Given the description of an element on the screen output the (x, y) to click on. 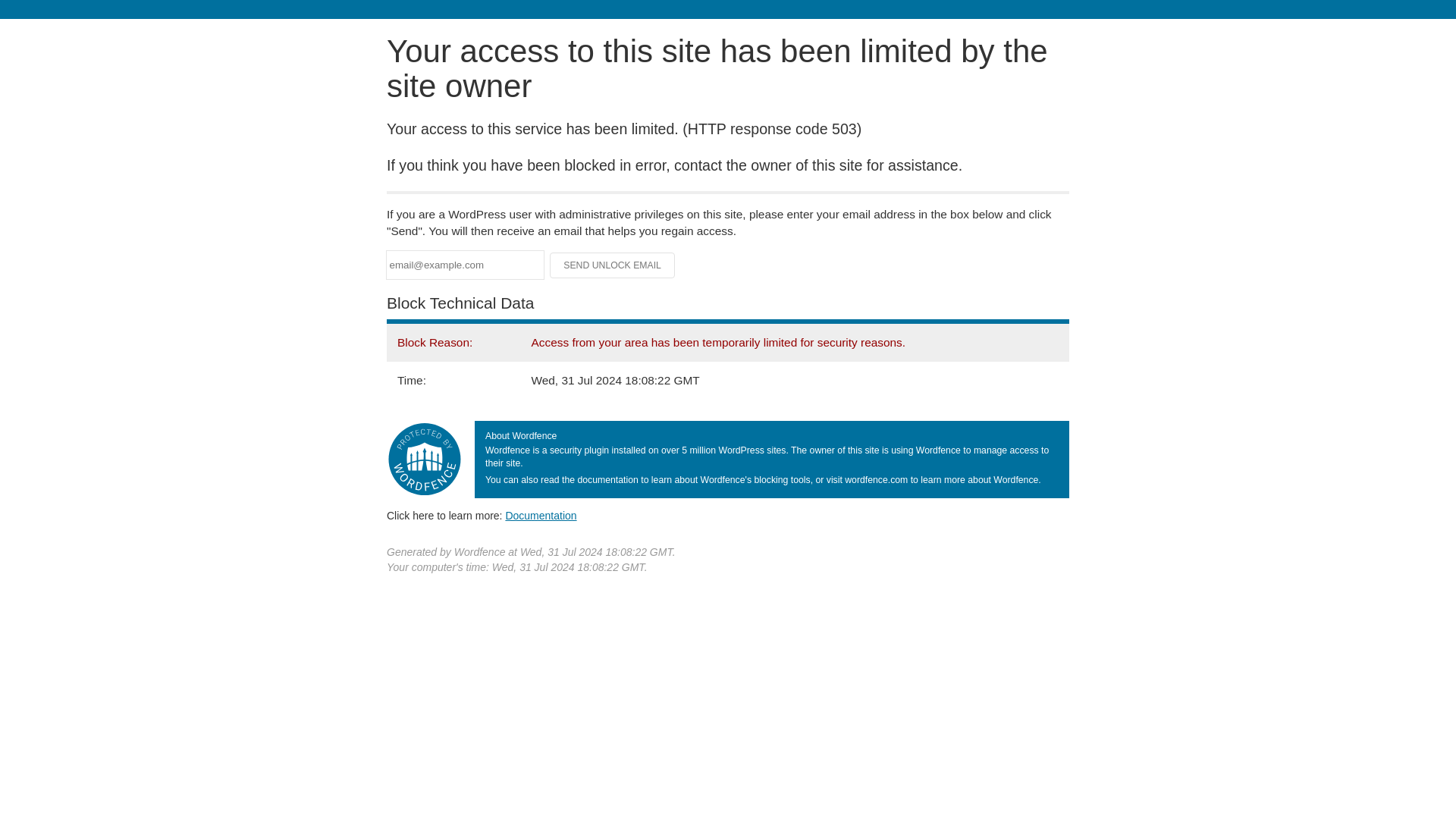
Documentation (540, 515)
Send Unlock Email (612, 265)
Send Unlock Email (612, 265)
